Given the description of an element on the screen output the (x, y) to click on. 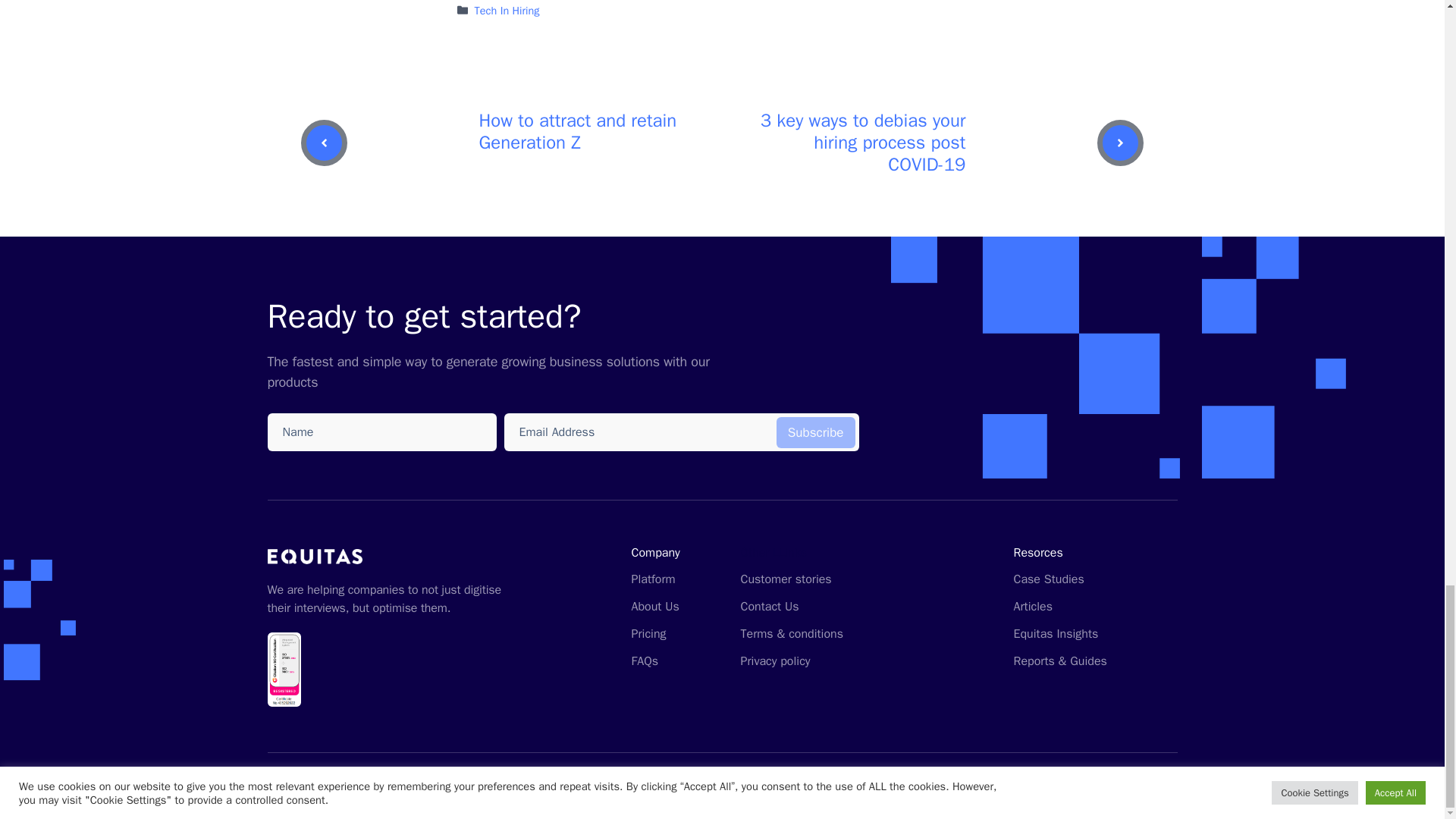
Tech In Hiring (507, 10)
How to attract and retain Generation Z (578, 130)
Pricing (647, 633)
Contact Us (768, 606)
Customer stories (785, 579)
About Us (654, 606)
Case Studies (1048, 579)
Subscribe (816, 431)
FAQs (644, 661)
Platform (652, 579)
Privacy policy (774, 661)
3 key ways to debias your hiring process post COVID-19 (863, 142)
